Given the description of an element on the screen output the (x, y) to click on. 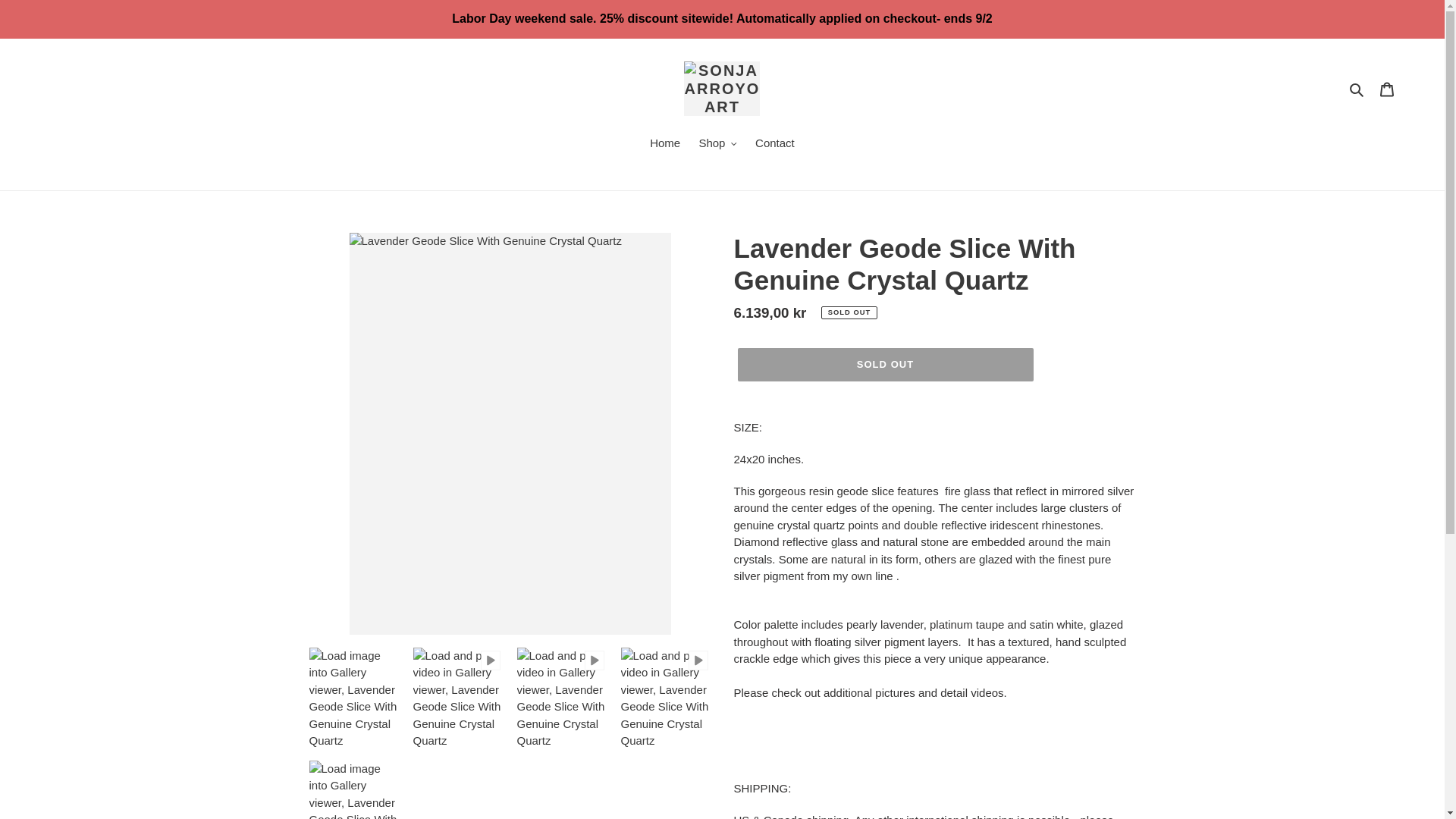
Contact (775, 144)
Search (1357, 88)
Shop (717, 144)
Cart (1387, 88)
Home (664, 144)
